Given the description of an element on the screen output the (x, y) to click on. 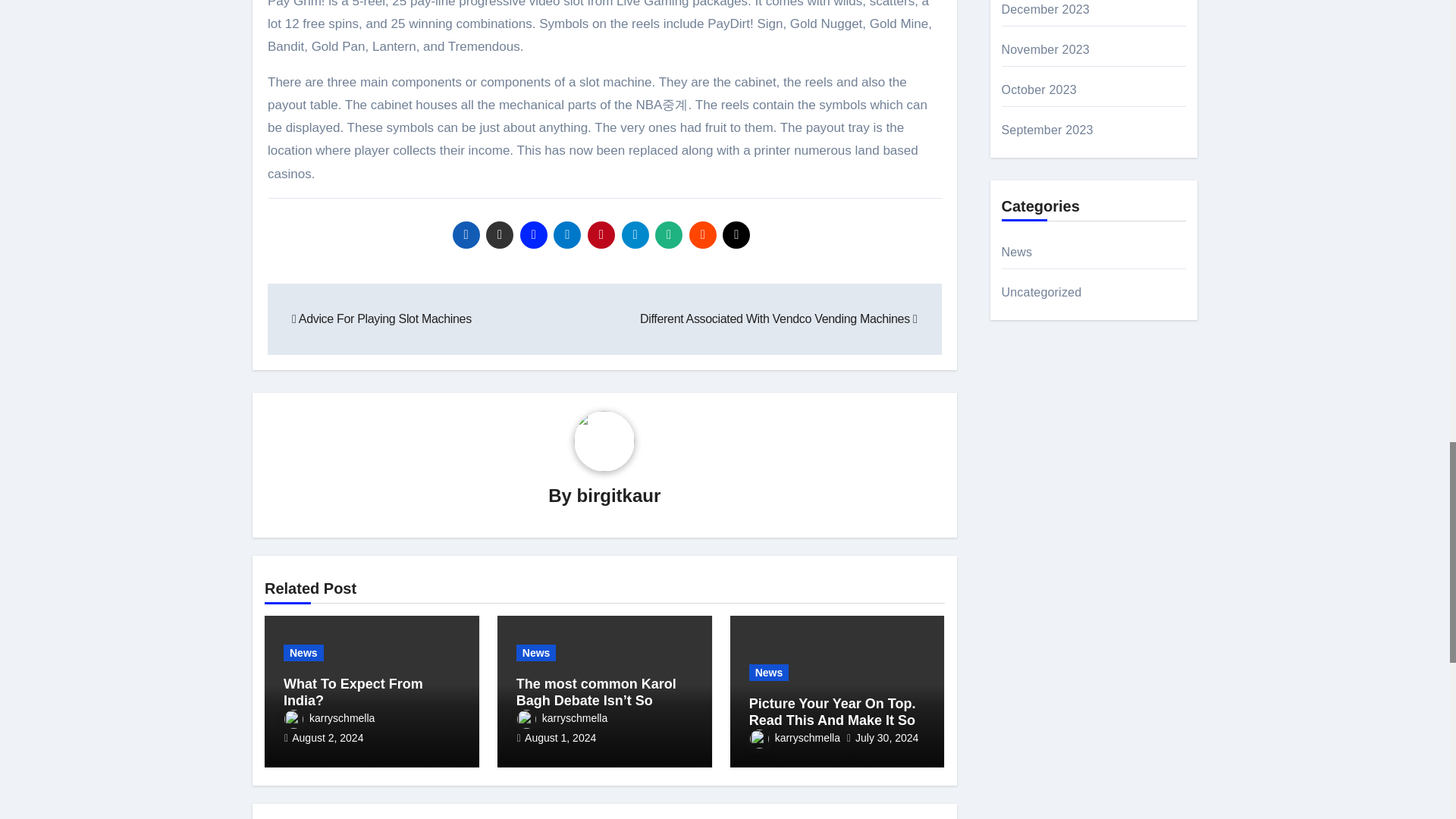
Advice For Playing Slot Machines (381, 318)
Different Associated With Vendco Vending Machines (778, 318)
What To Expect From India? (353, 692)
Permalink to: What To Expect From India? (353, 692)
birgitkaur (618, 495)
News (303, 652)
